Given the description of an element on the screen output the (x, y) to click on. 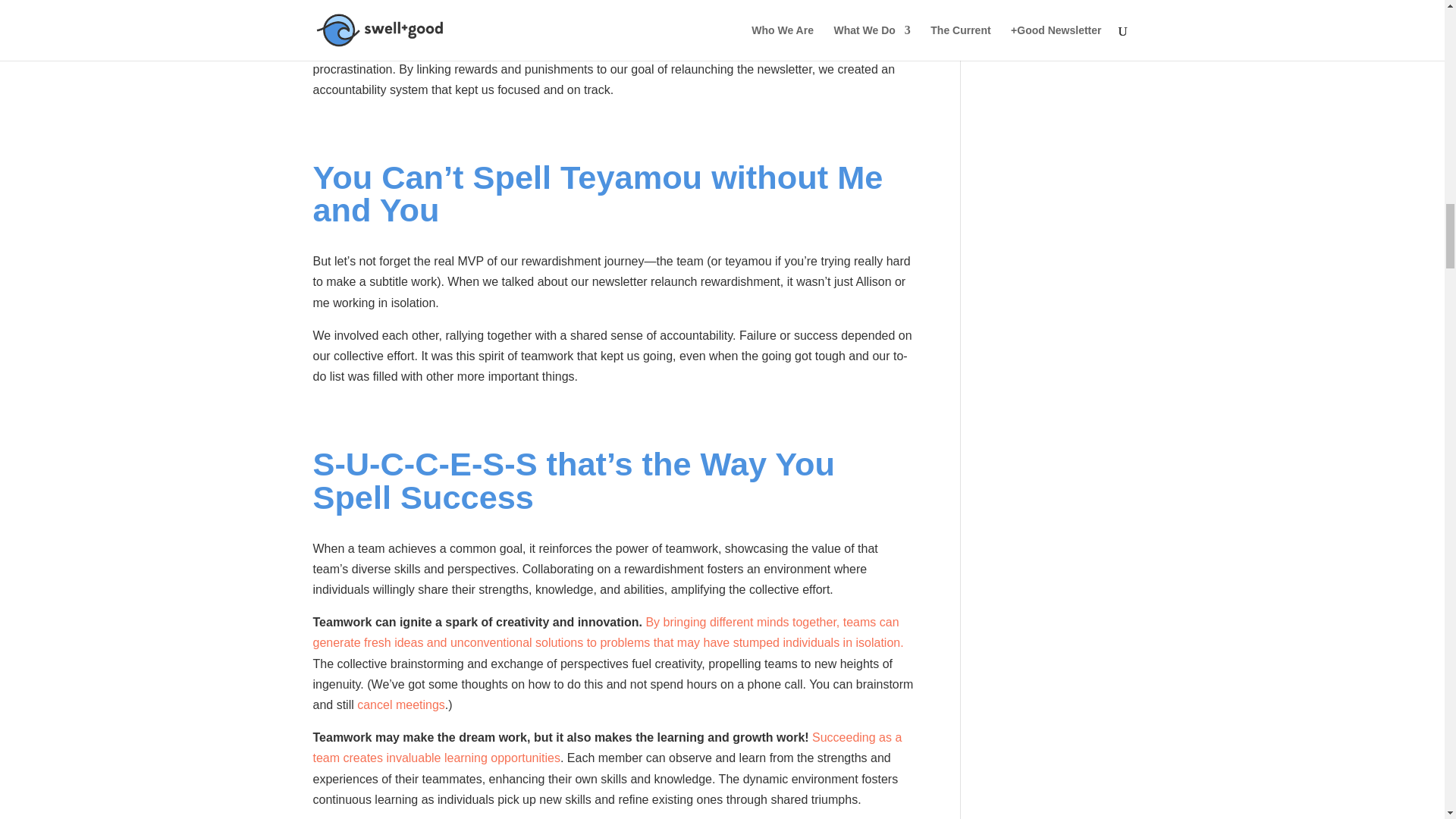
cancel meetings (400, 704)
